Given the description of an element on the screen output the (x, y) to click on. 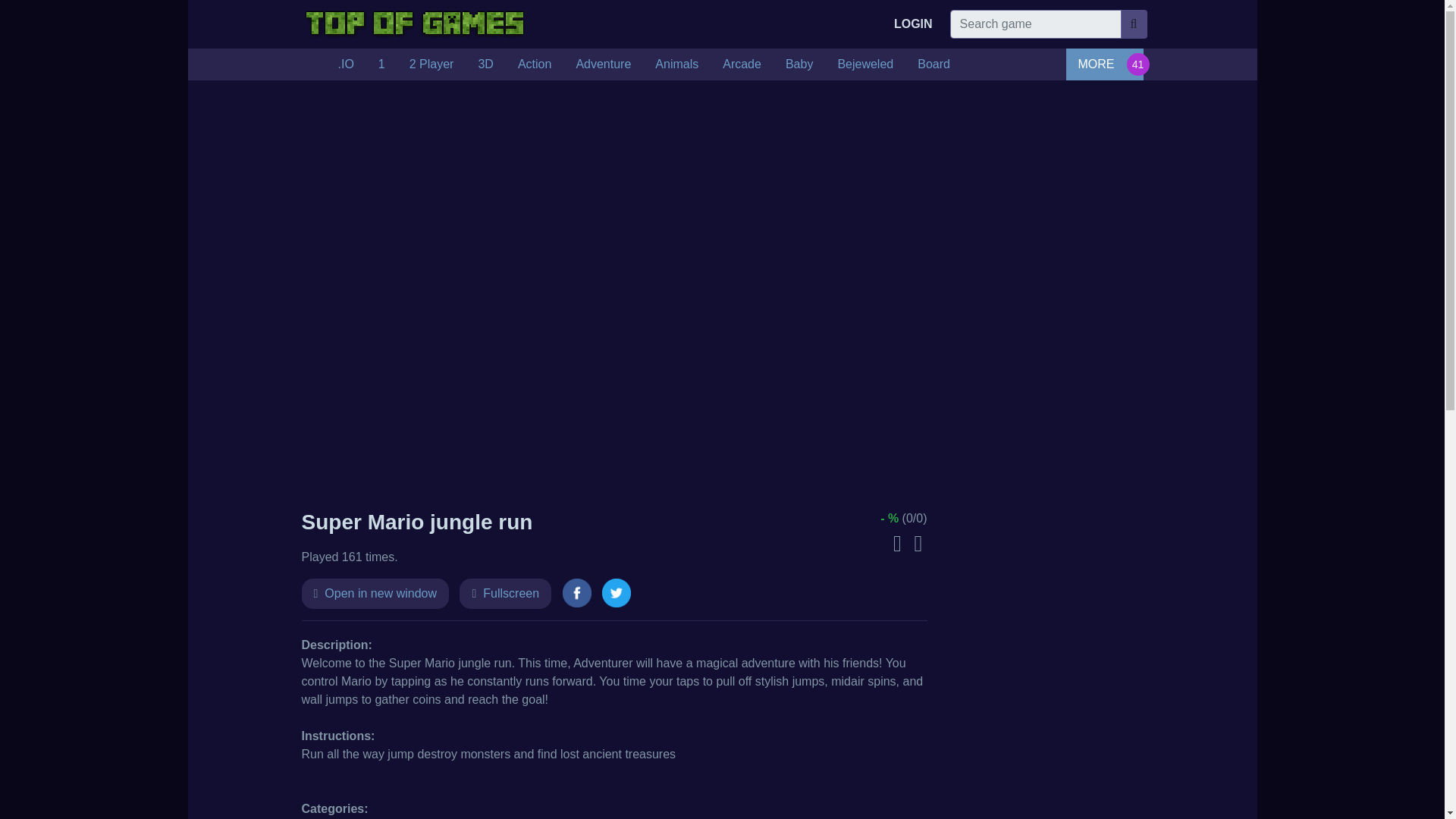
Adventure (603, 64)
Board (933, 64)
MORE (1103, 64)
Animals (676, 64)
LOGIN (913, 24)
Bejeweled (865, 64)
3D (485, 64)
Action (534, 64)
1 (381, 64)
Arcade (741, 64)
